Given the description of an element on the screen output the (x, y) to click on. 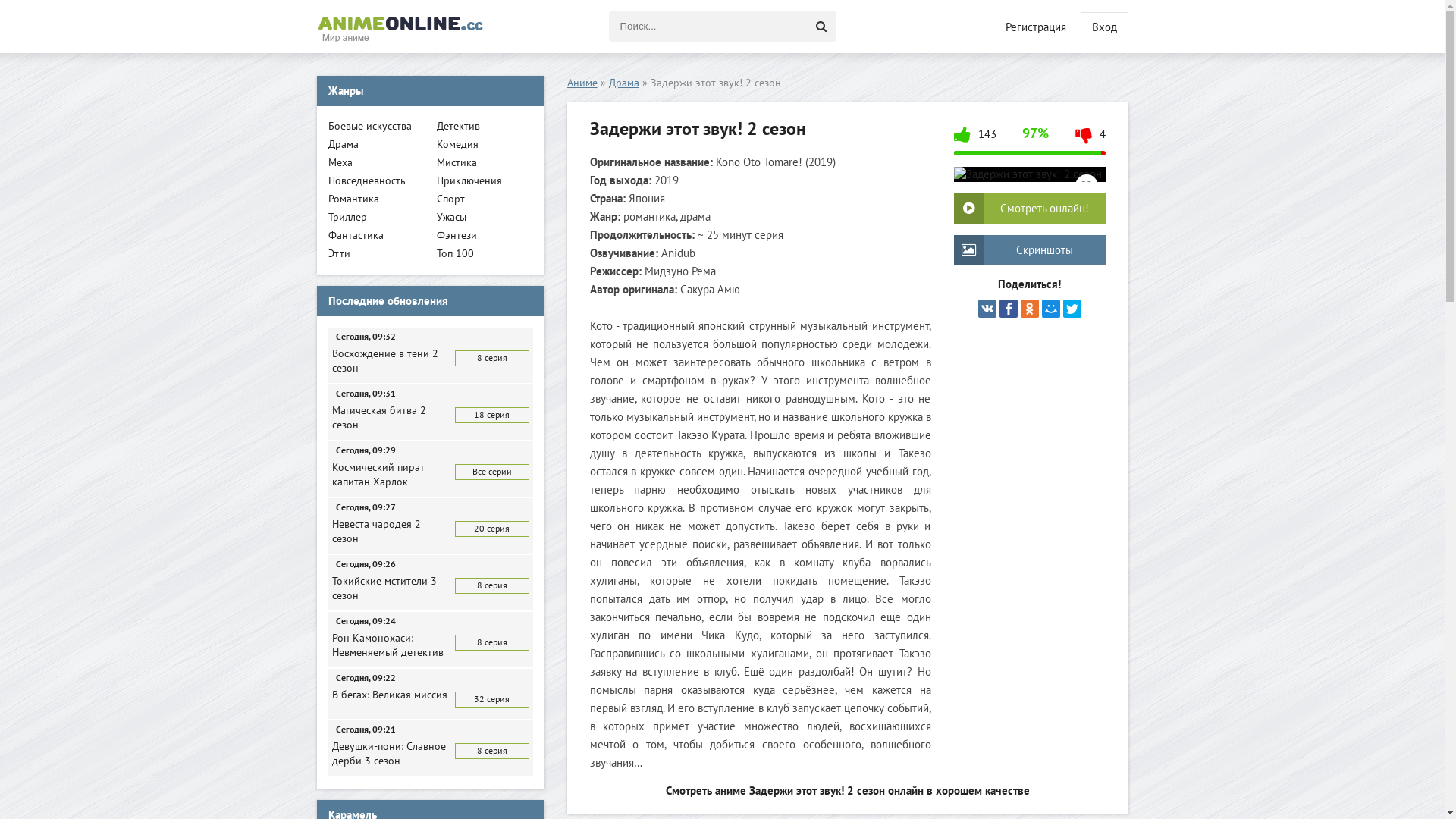
Facebook Element type: hover (1008, 308)
143 Element type: text (974, 140)
Twitter Element type: hover (1072, 308)
4 Element type: text (1090, 140)
